Given the description of an element on the screen output the (x, y) to click on. 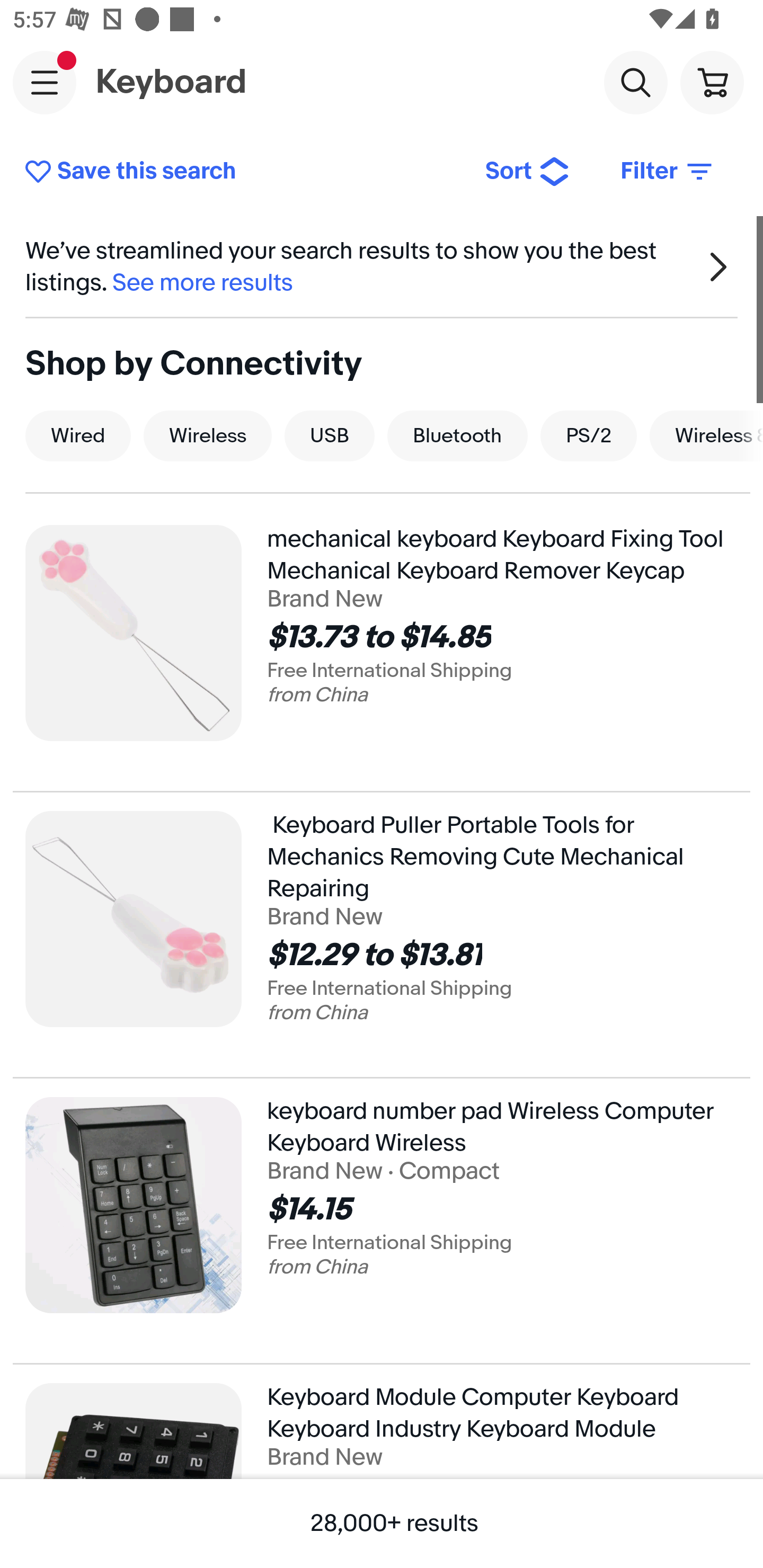
Main navigation, notification is pending, open (44, 82)
Search (635, 81)
Cart button shopping cart (711, 81)
Save this search (241, 171)
Sort (527, 171)
Filter (667, 171)
Wired Wired, Connectivity (78, 435)
Wireless Wireless, Connectivity (207, 435)
USB USB, Connectivity (329, 435)
Bluetooth Bluetooth, Connectivity (457, 435)
PS/2 PS/2, Connectivity (588, 435)
Wireless & Wired Wireless & Wired, Connectivity (706, 435)
